Given the description of an element on the screen output the (x, y) to click on. 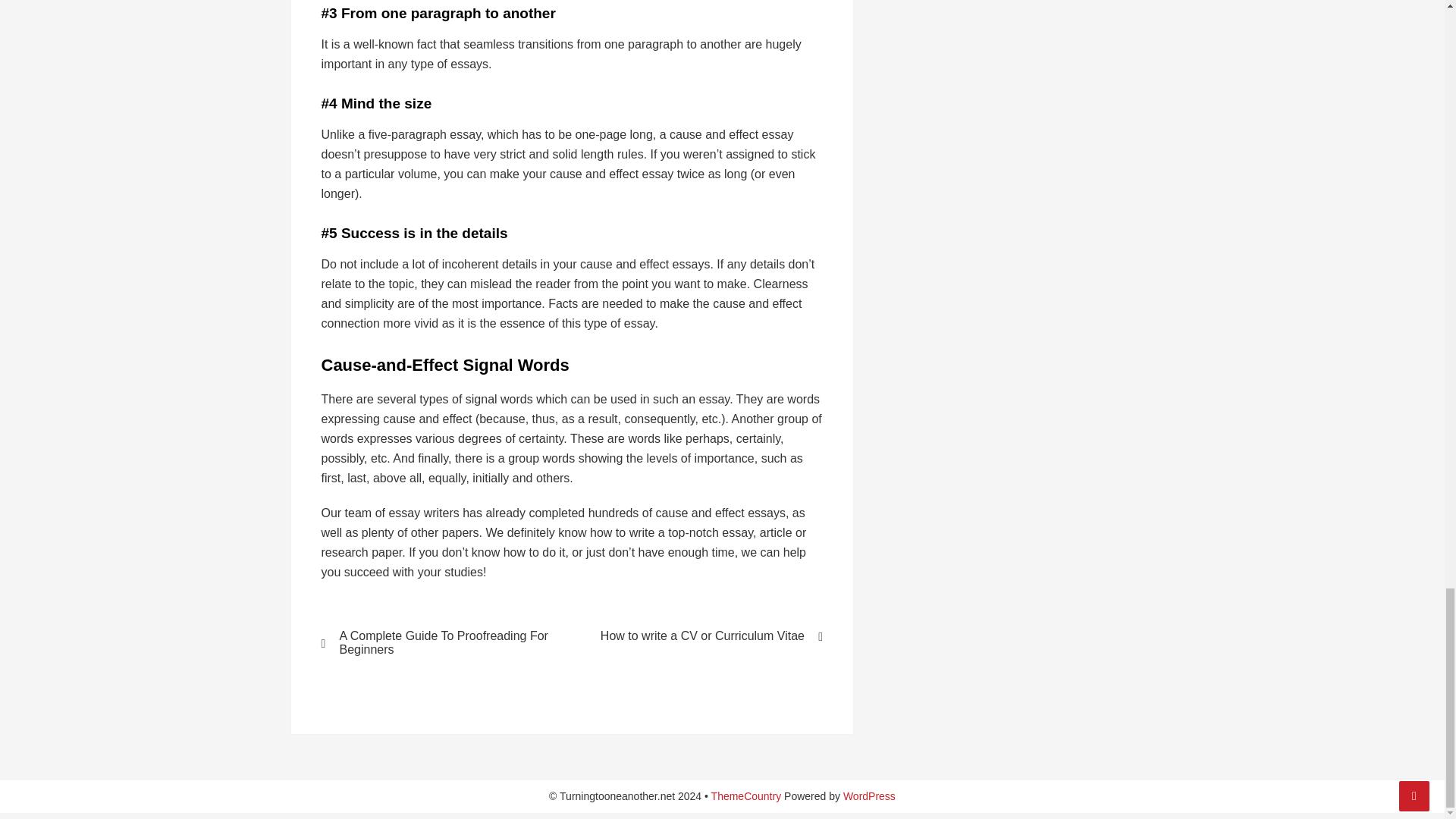
BasePress - The best free WordPress blog theme for WordPress (746, 796)
A Complete Guide To Proofreading For Beginners (436, 642)
ThemeCountry (746, 796)
How to write a CV or Curriculum Vitae (707, 635)
WordPress (869, 796)
